Given the description of an element on the screen output the (x, y) to click on. 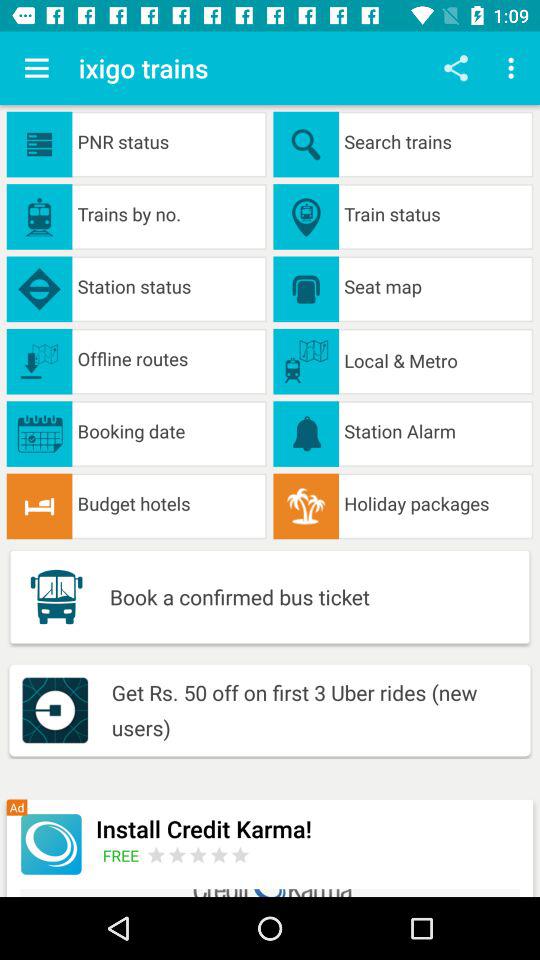
star rate option (197, 854)
